Given the description of an element on the screen output the (x, y) to click on. 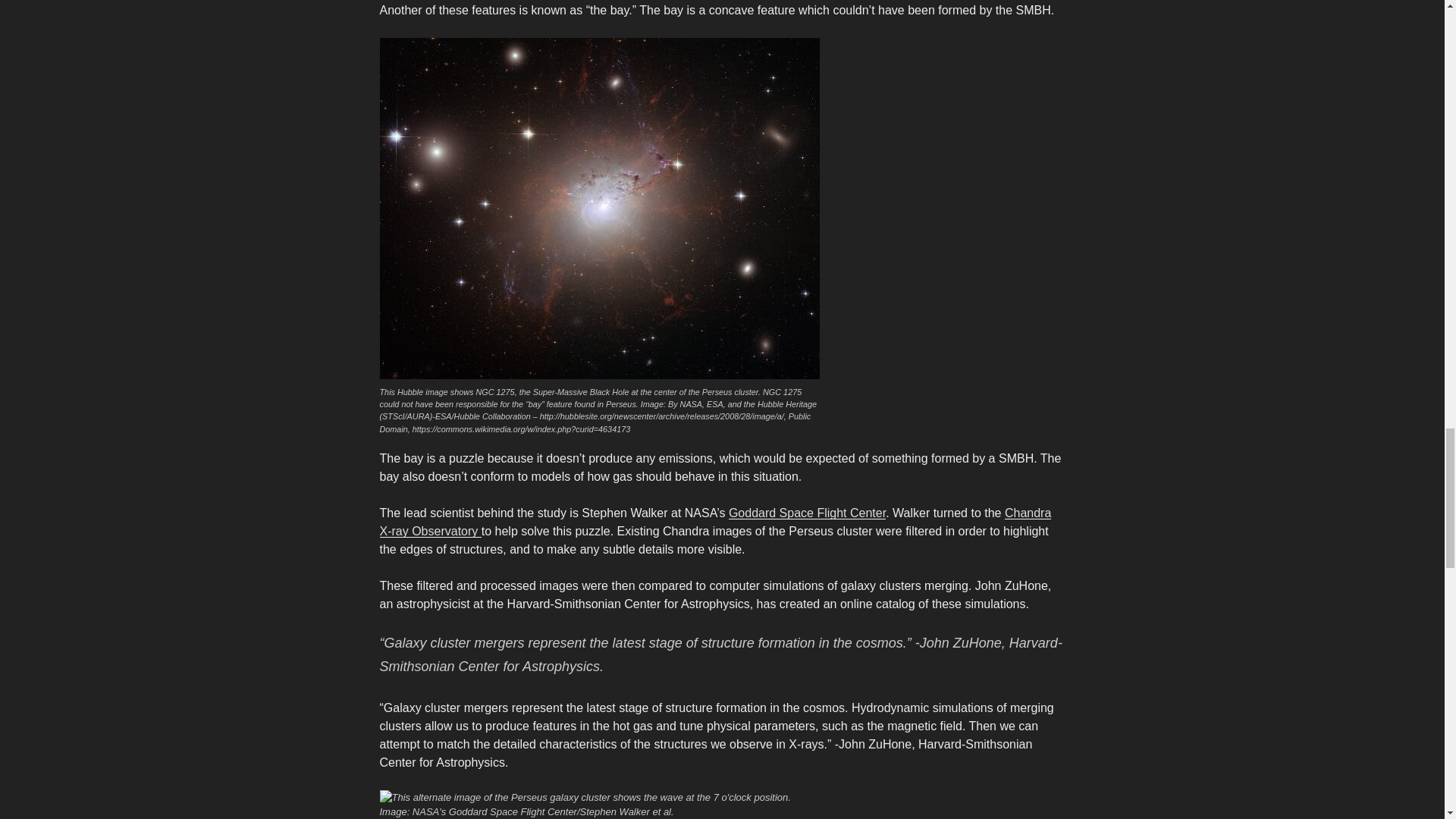
Goddard Space Flight Center (807, 512)
Chandra X-ray Observatory (714, 521)
